Given the description of an element on the screen output the (x, y) to click on. 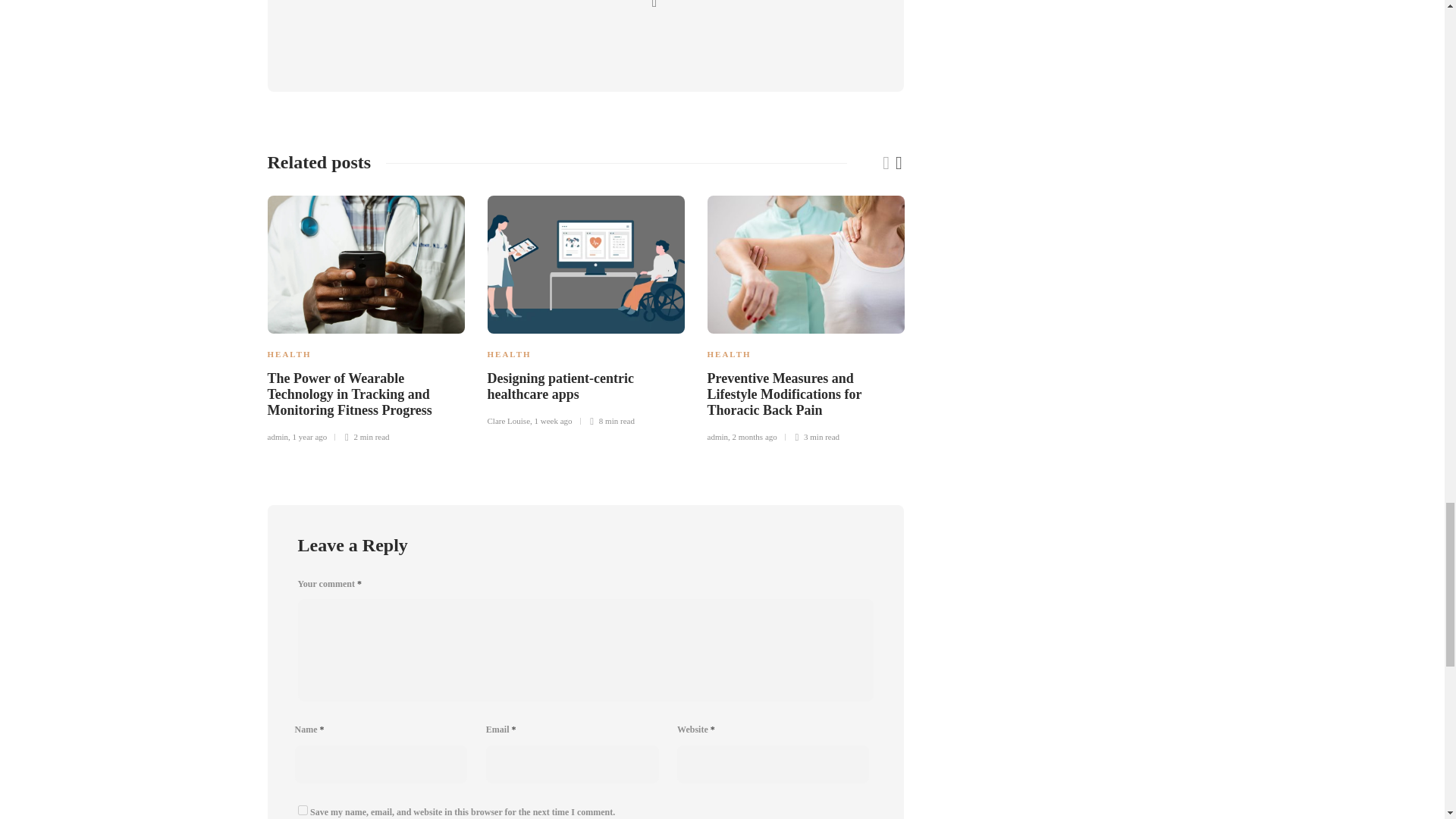
yes (302, 809)
